Given the description of an element on the screen output the (x, y) to click on. 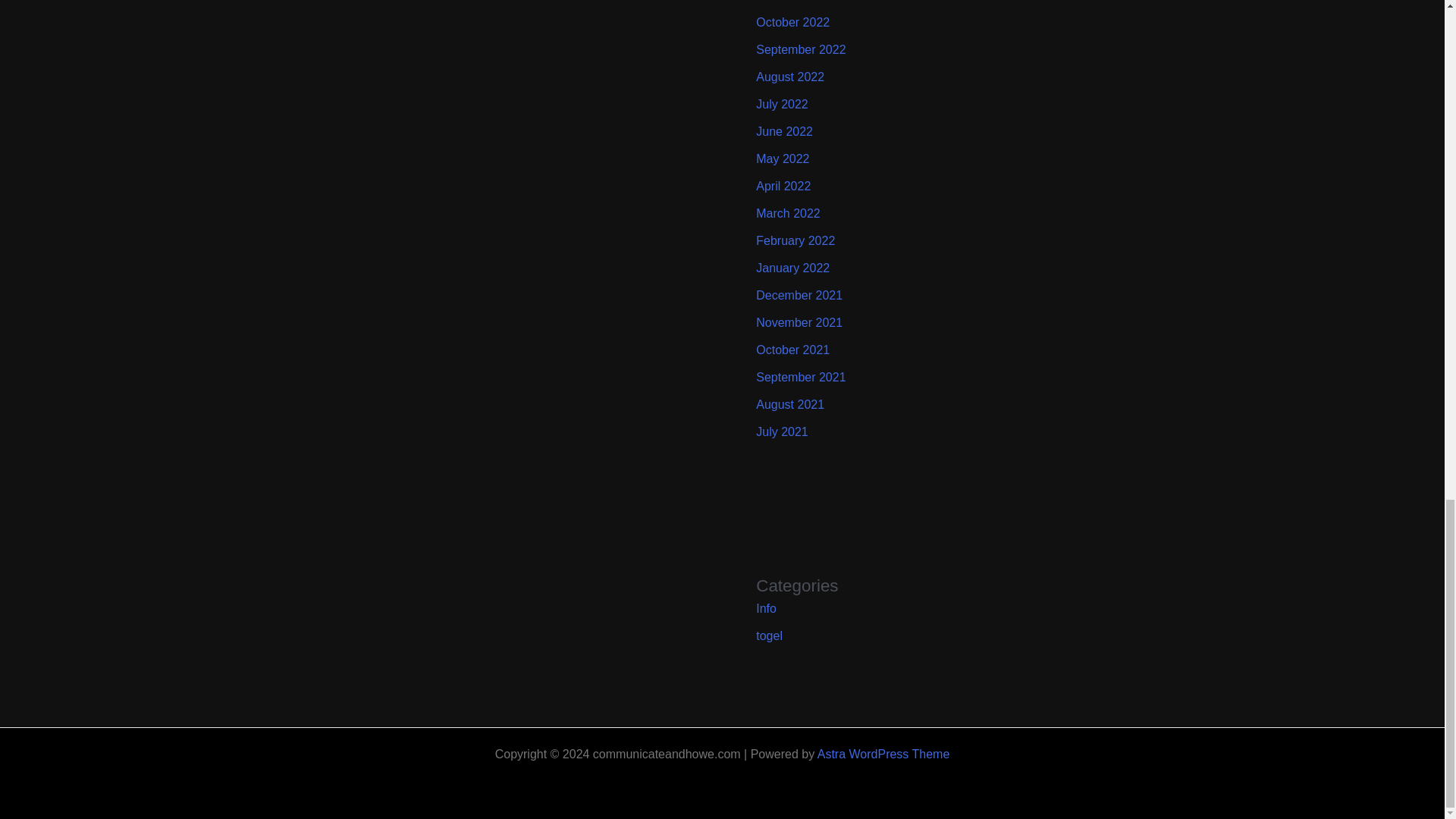
August 2022 (789, 76)
October 2022 (792, 21)
September 2022 (800, 49)
November 2022 (799, 0)
